Given the description of an element on the screen output the (x, y) to click on. 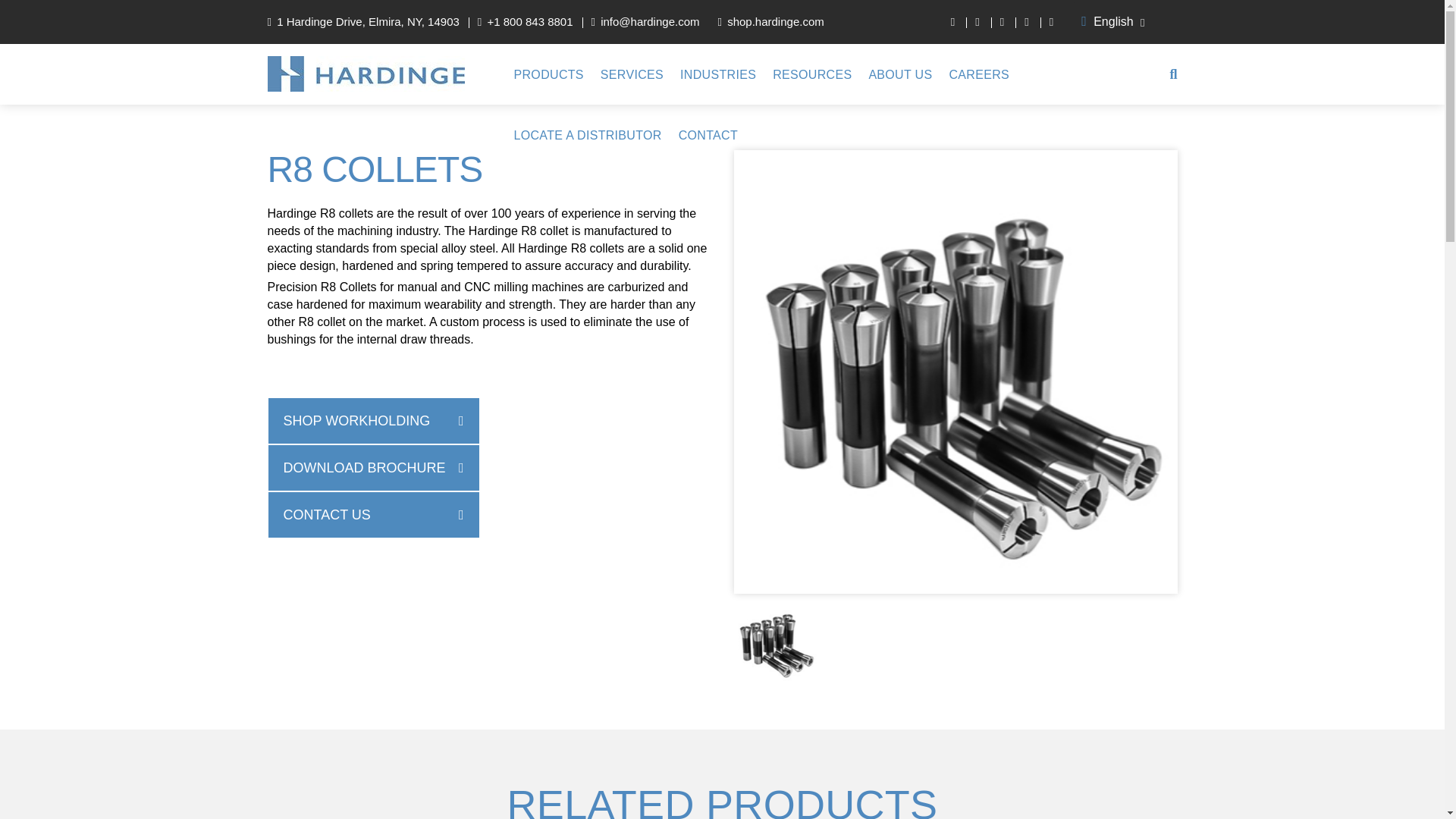
careers (979, 74)
contact (708, 134)
locate-a-distributor (587, 134)
English (1124, 21)
